Given the description of an element on the screen output the (x, y) to click on. 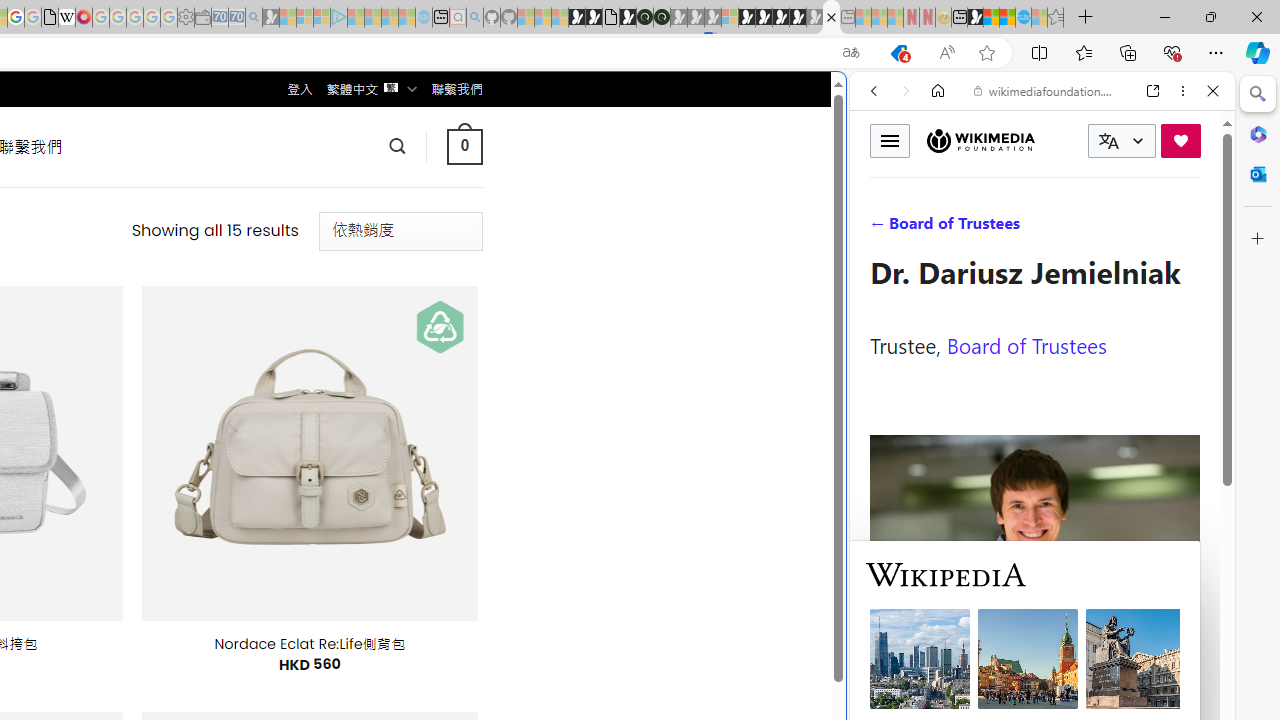
Class: b_serphb (1190, 229)
Microsoft account | Privacy - Sleeping (321, 17)
Preferences (1189, 228)
CURRENT LANGUAGE: (1121, 141)
Show translate options (850, 53)
github - Search - Sleeping (474, 17)
New tab - Sleeping (847, 17)
Home | Sky Blue Bikes - Sky Blue Bikes (687, 426)
Forward (906, 91)
